Given the description of an element on the screen output the (x, y) to click on. 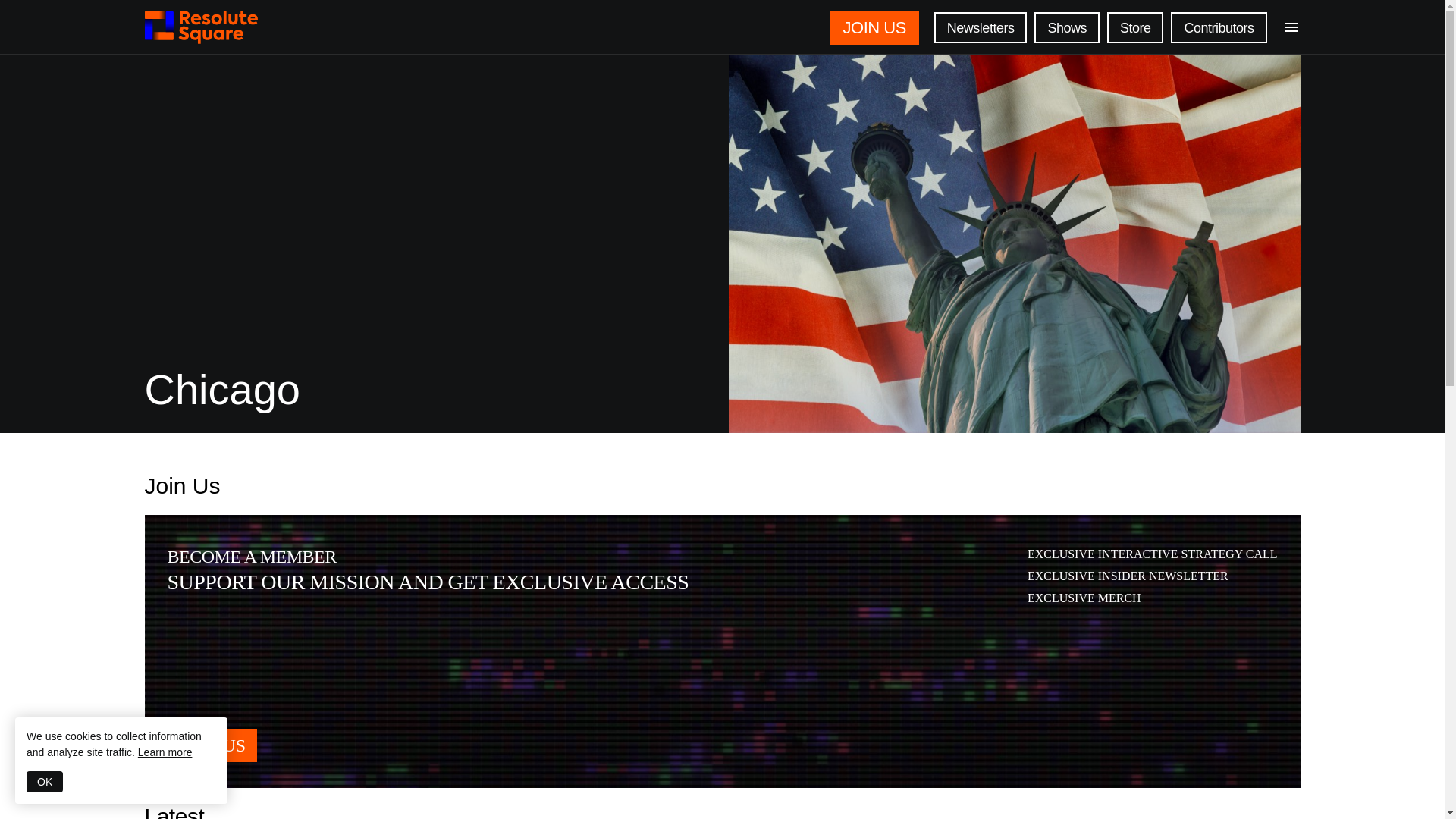
Learn more (165, 752)
Contributors (1218, 27)
OK (44, 781)
Store (1134, 27)
Newsletters (980, 27)
JOIN US (877, 27)
Shows (1066, 27)
